Given the description of an element on the screen output the (x, y) to click on. 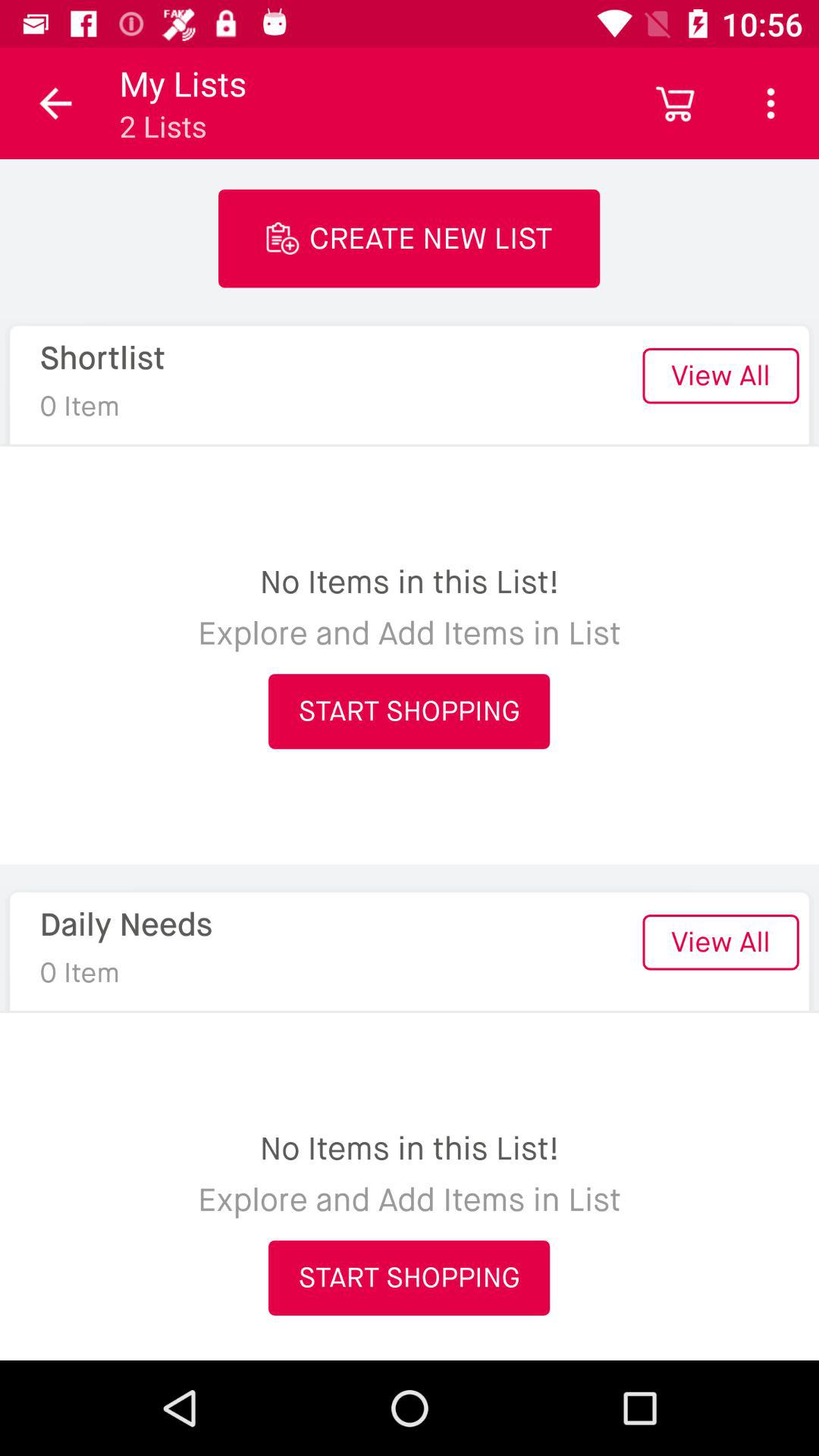
launch icon to the right of the my lists item (675, 103)
